Given the description of an element on the screen output the (x, y) to click on. 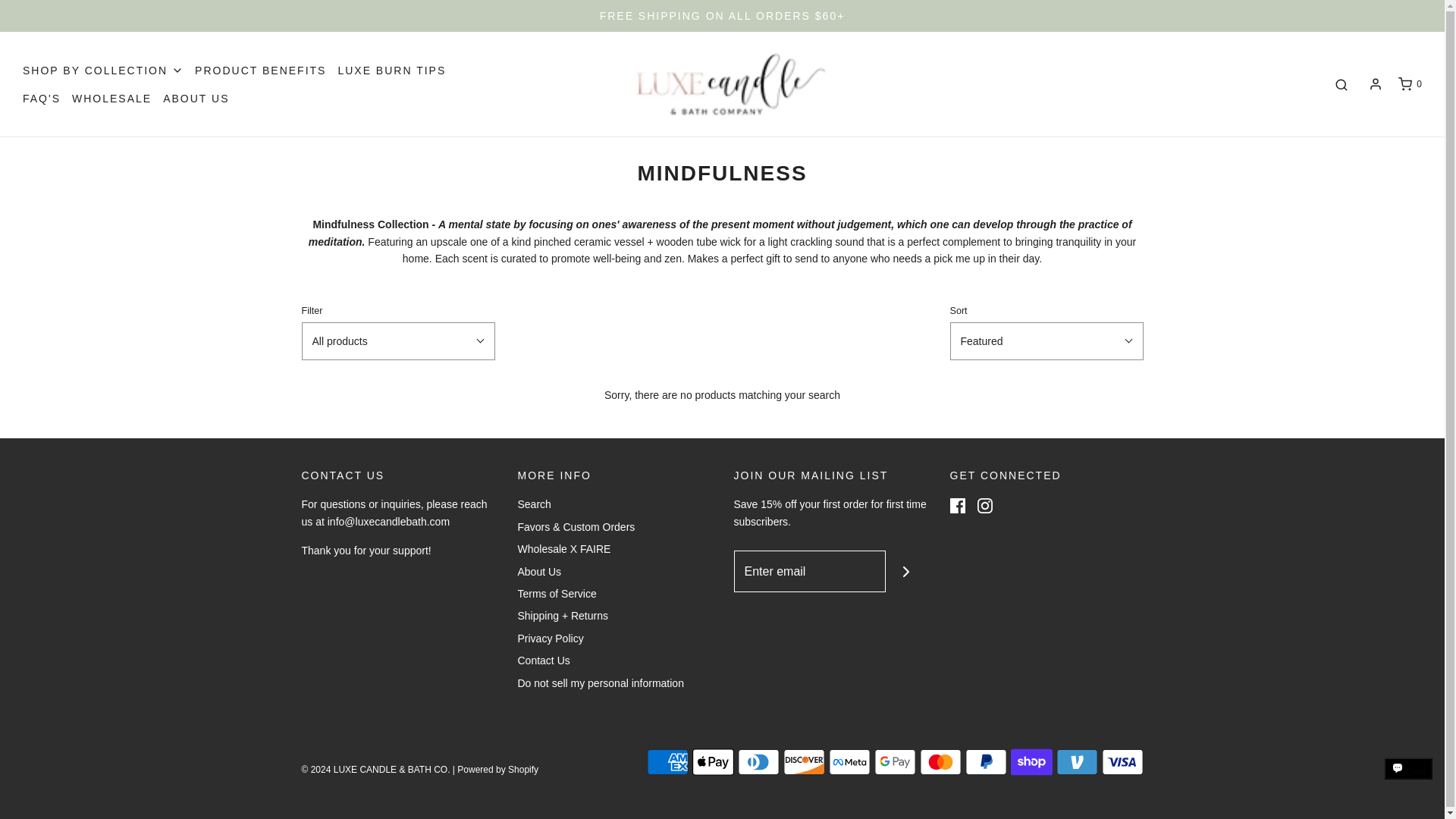
FAQ'S (42, 98)
Diners Club (757, 761)
Log in (1375, 83)
Search (1341, 84)
Shop Pay (1030, 761)
Search (533, 506)
American Express (666, 761)
Visa (1121, 761)
Instagram icon (983, 505)
Shopify online store chat (1408, 781)
